Given the description of an element on the screen output the (x, y) to click on. 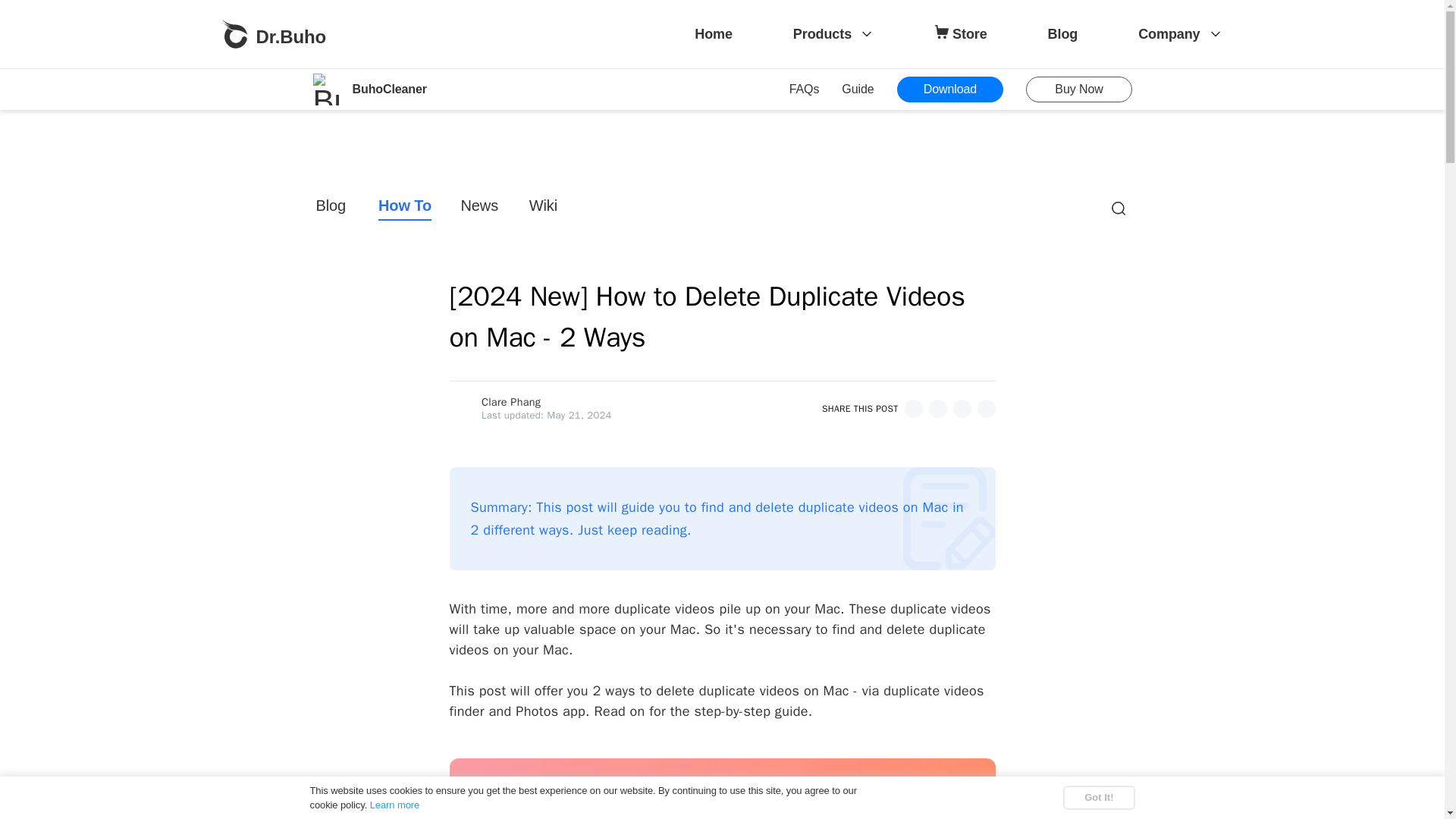
Blog (1063, 33)
Guide (857, 88)
Wiki (544, 207)
FAQs (804, 88)
BuhoCleaner (369, 89)
Dr.Buho (273, 33)
Home (713, 33)
Blog (332, 207)
Download (949, 89)
How To (404, 207)
